Given the description of an element on the screen output the (x, y) to click on. 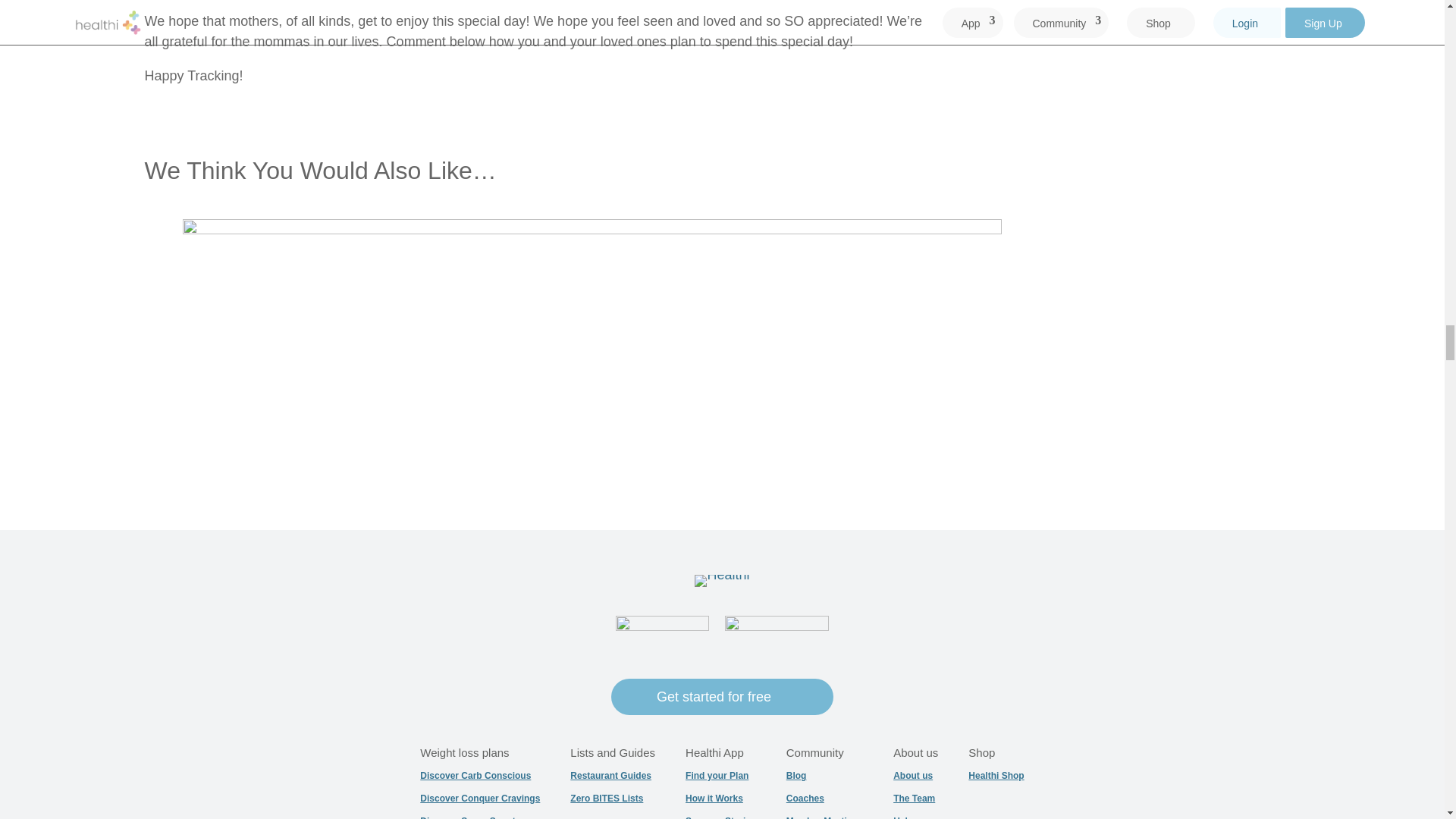
Healthi (721, 580)
